Given the description of an element on the screen output the (x, y) to click on. 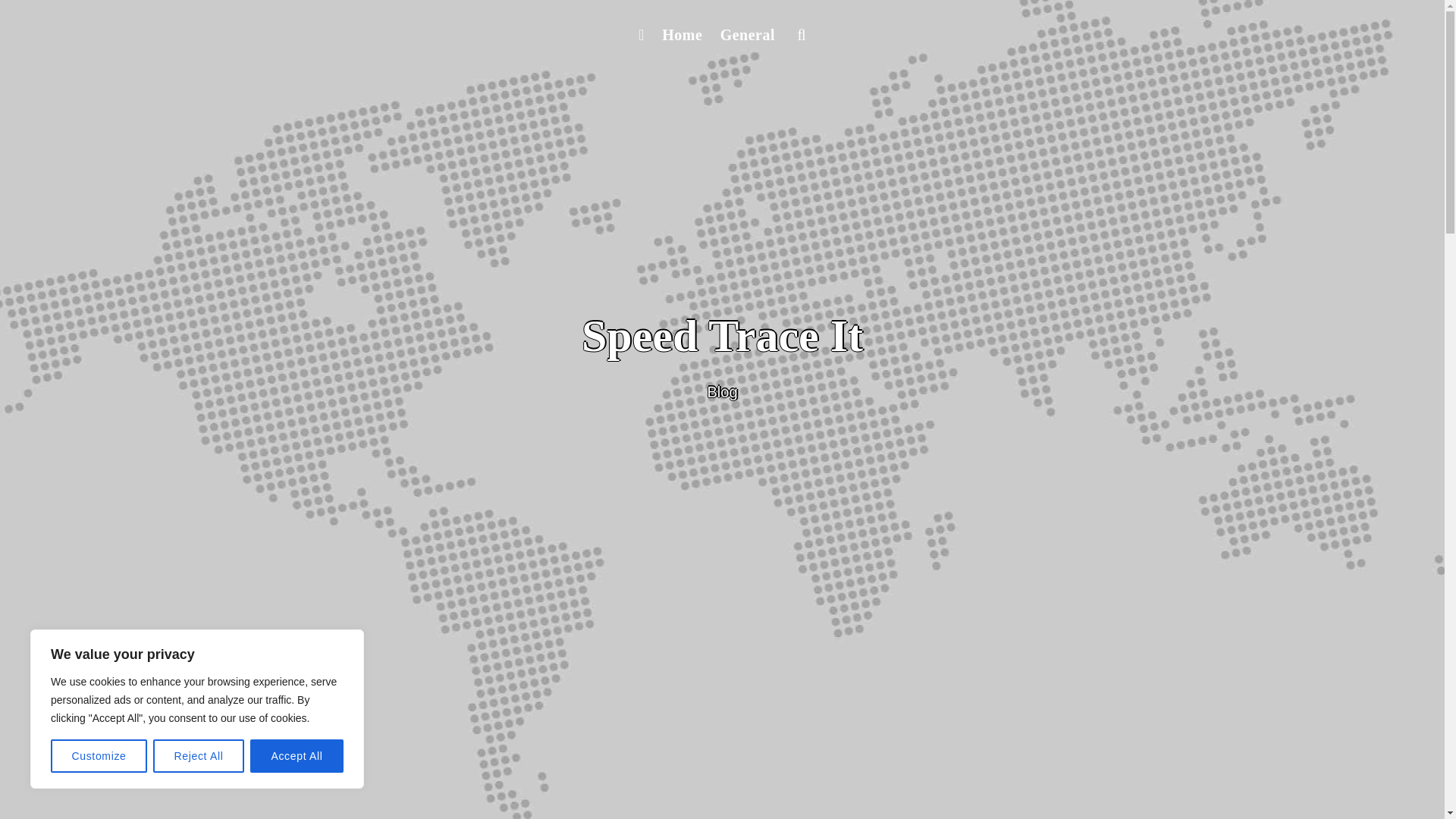
Speed Trace It (721, 336)
General (747, 35)
Reject All (198, 756)
Accept All (296, 756)
Home (681, 35)
Customize (98, 756)
